Given the description of an element on the screen output the (x, y) to click on. 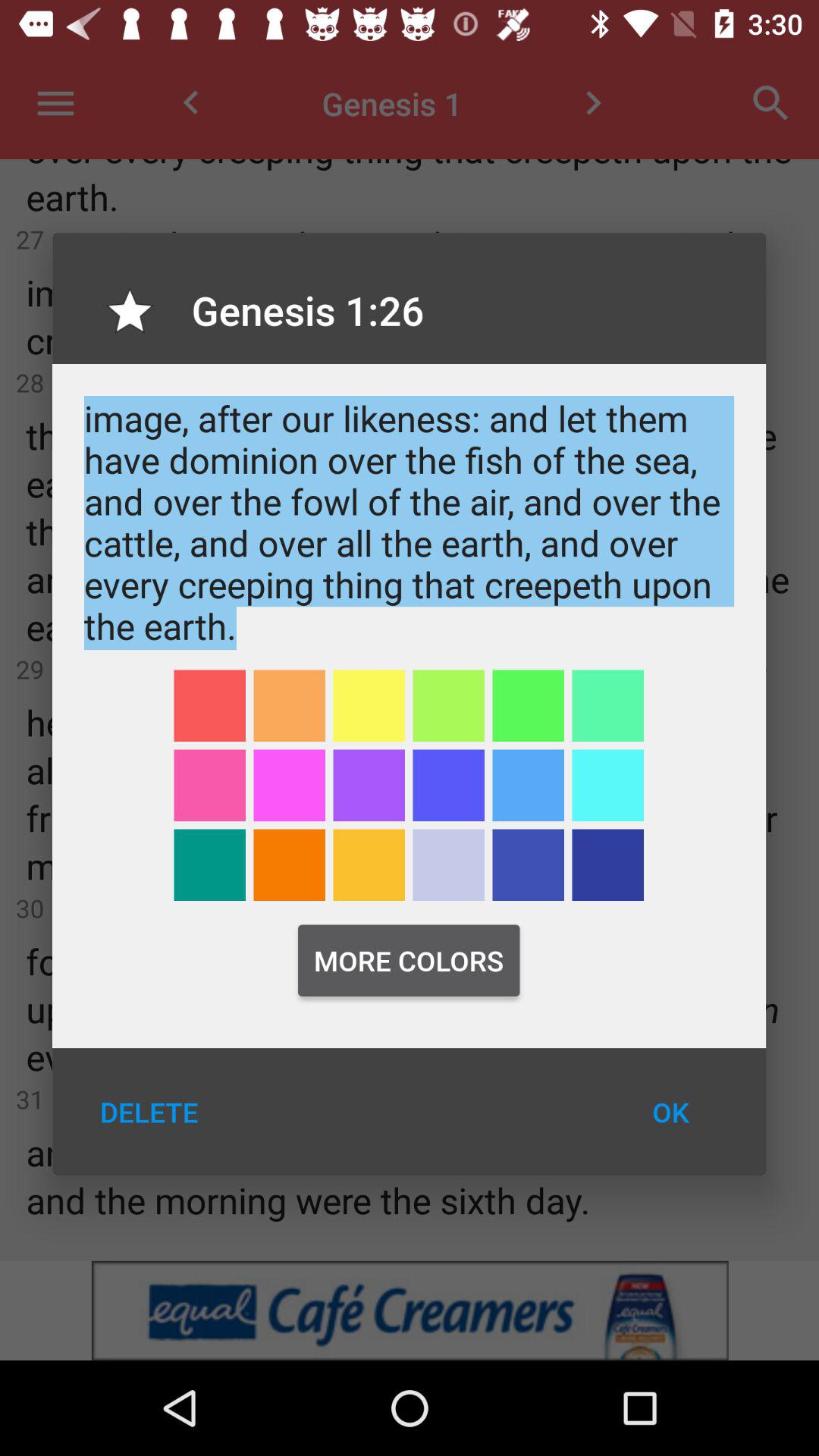
scroll to the more colors icon (408, 960)
